Given the description of an element on the screen output the (x, y) to click on. 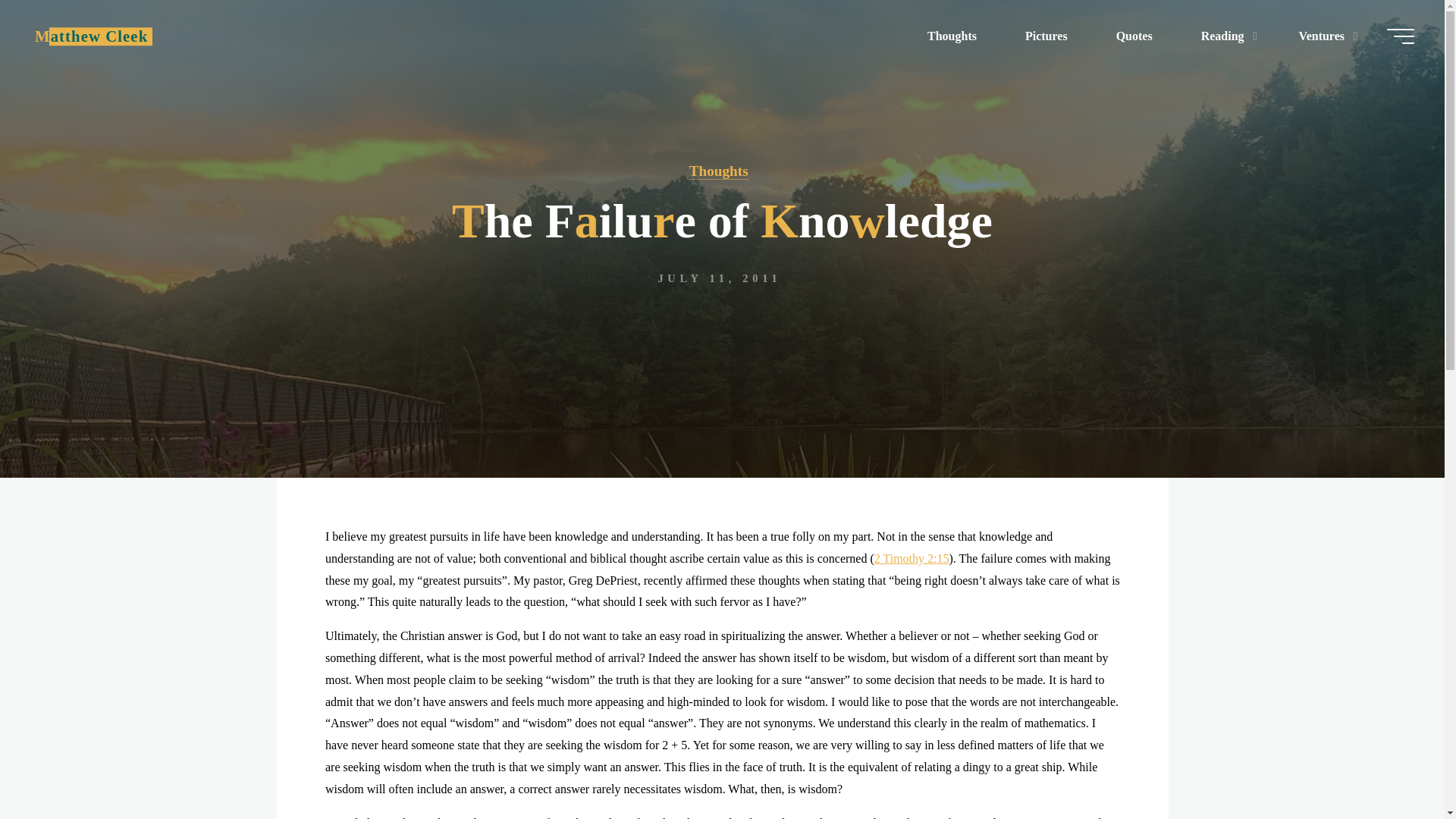
Read more (721, 383)
Thoughts (951, 35)
Quotes (1134, 35)
Reading (1225, 35)
Living Life Well (91, 36)
Matthew Cleek (91, 36)
Pictures (1046, 35)
